Given the description of an element on the screen output the (x, y) to click on. 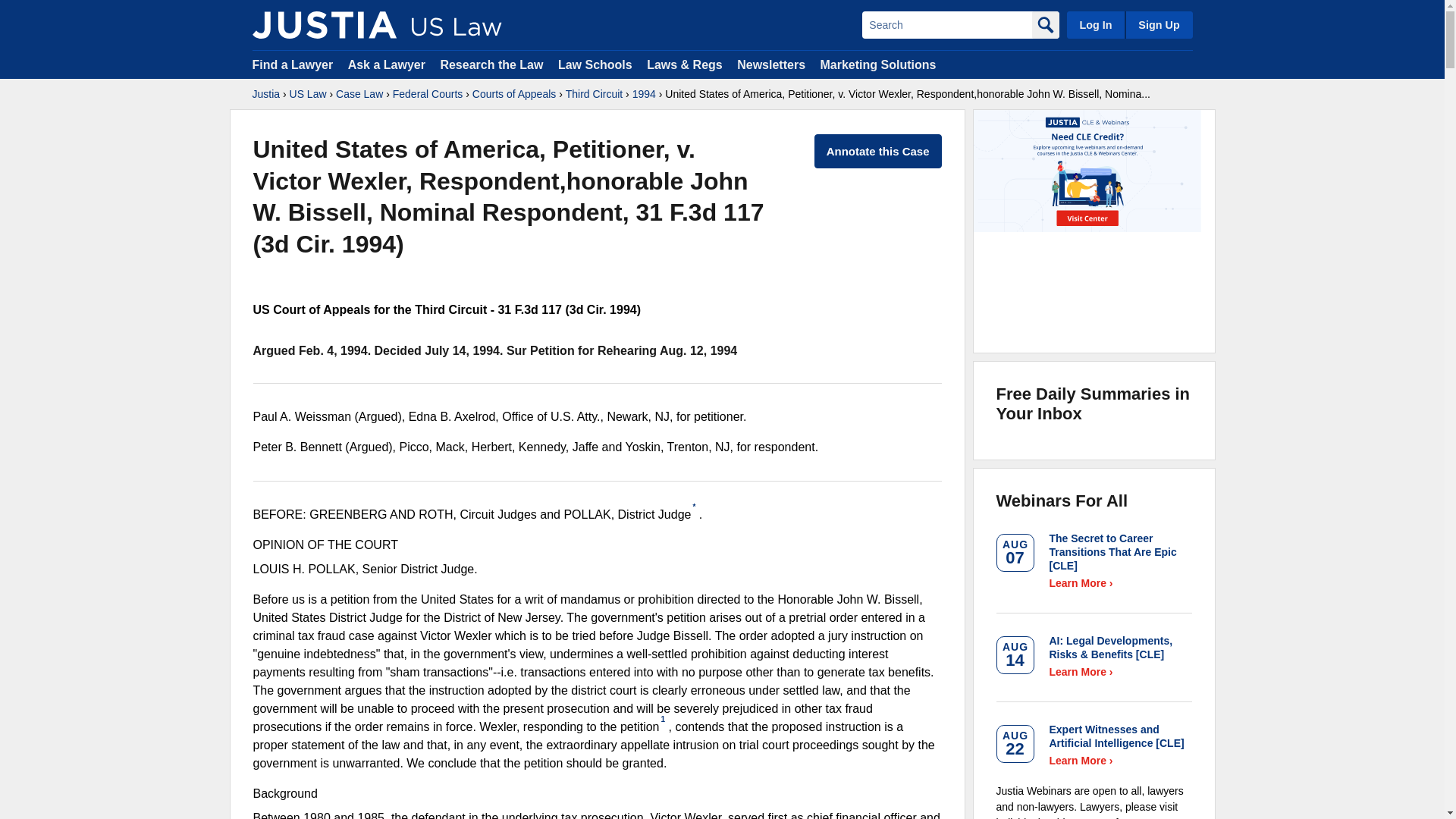
Sign Up (1158, 24)
Annotate this Case (877, 151)
Marketing Solutions (877, 64)
Newsletters (770, 64)
Justia (265, 93)
Find a Lawyer (292, 64)
Federal Courts (428, 93)
Log In (1094, 24)
Research the Law (491, 64)
Courts of Appeals (513, 93)
